Given the description of an element on the screen output the (x, y) to click on. 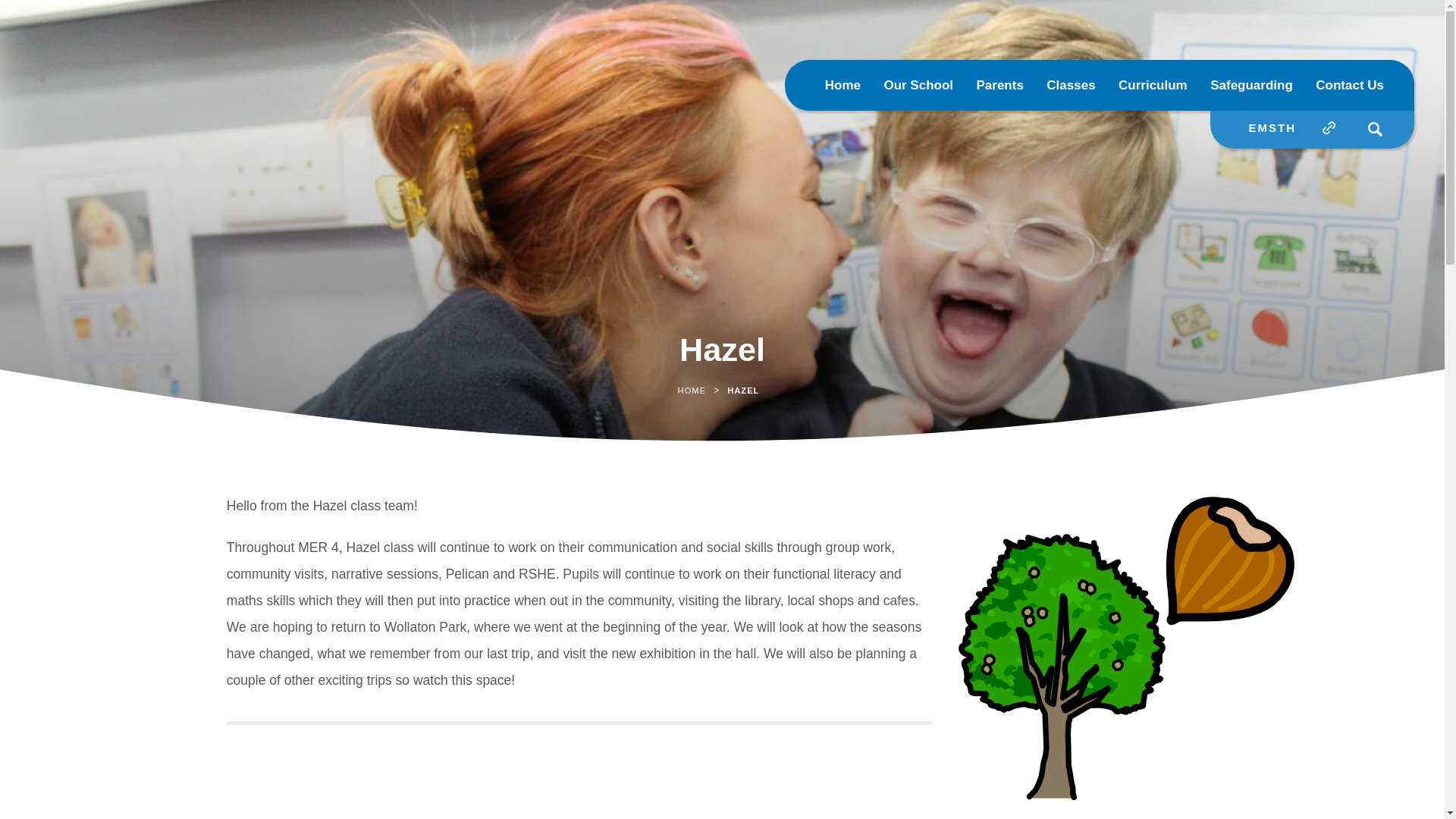
Classes (1070, 84)
Our School (918, 84)
Parents (999, 84)
Hazel (1125, 650)
